Given the description of an element on the screen output the (x, y) to click on. 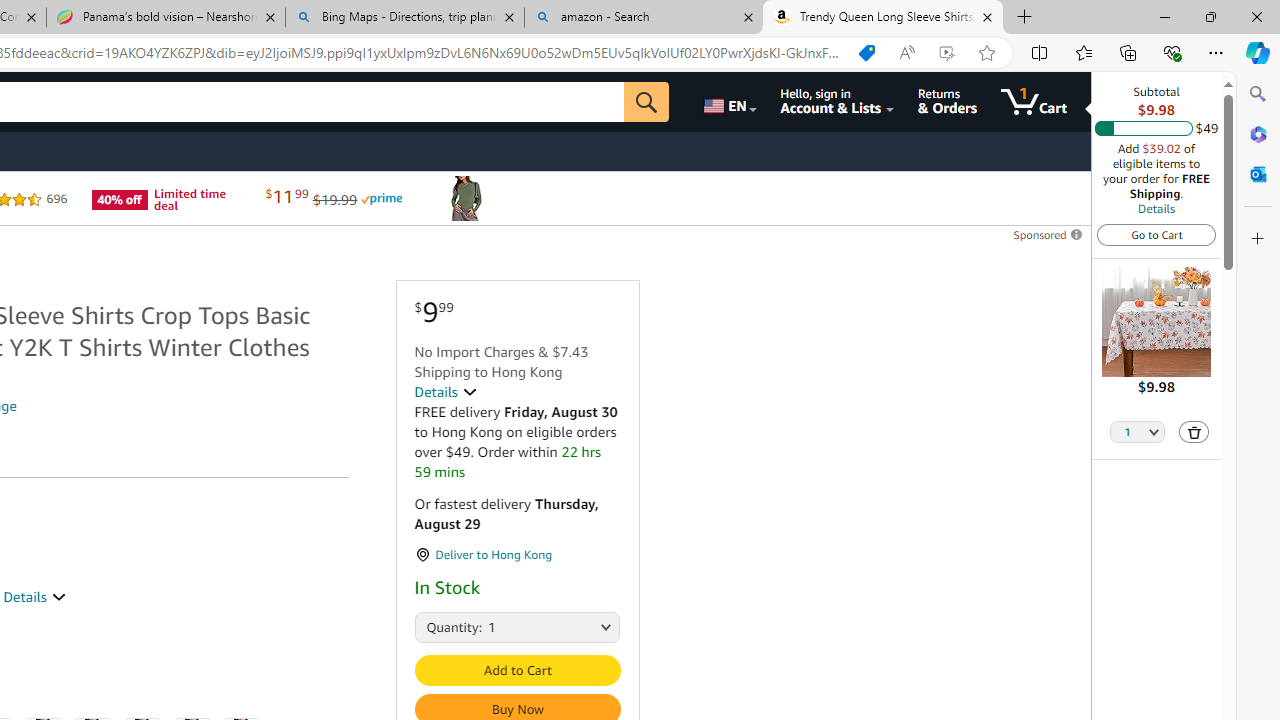
Add to Cart (516, 669)
Enhance video (946, 53)
Returns & Orders (946, 101)
Go (646, 101)
Hello, sign in Account & Lists (836, 101)
Quantity: (436, 626)
